Given the description of an element on the screen output the (x, y) to click on. 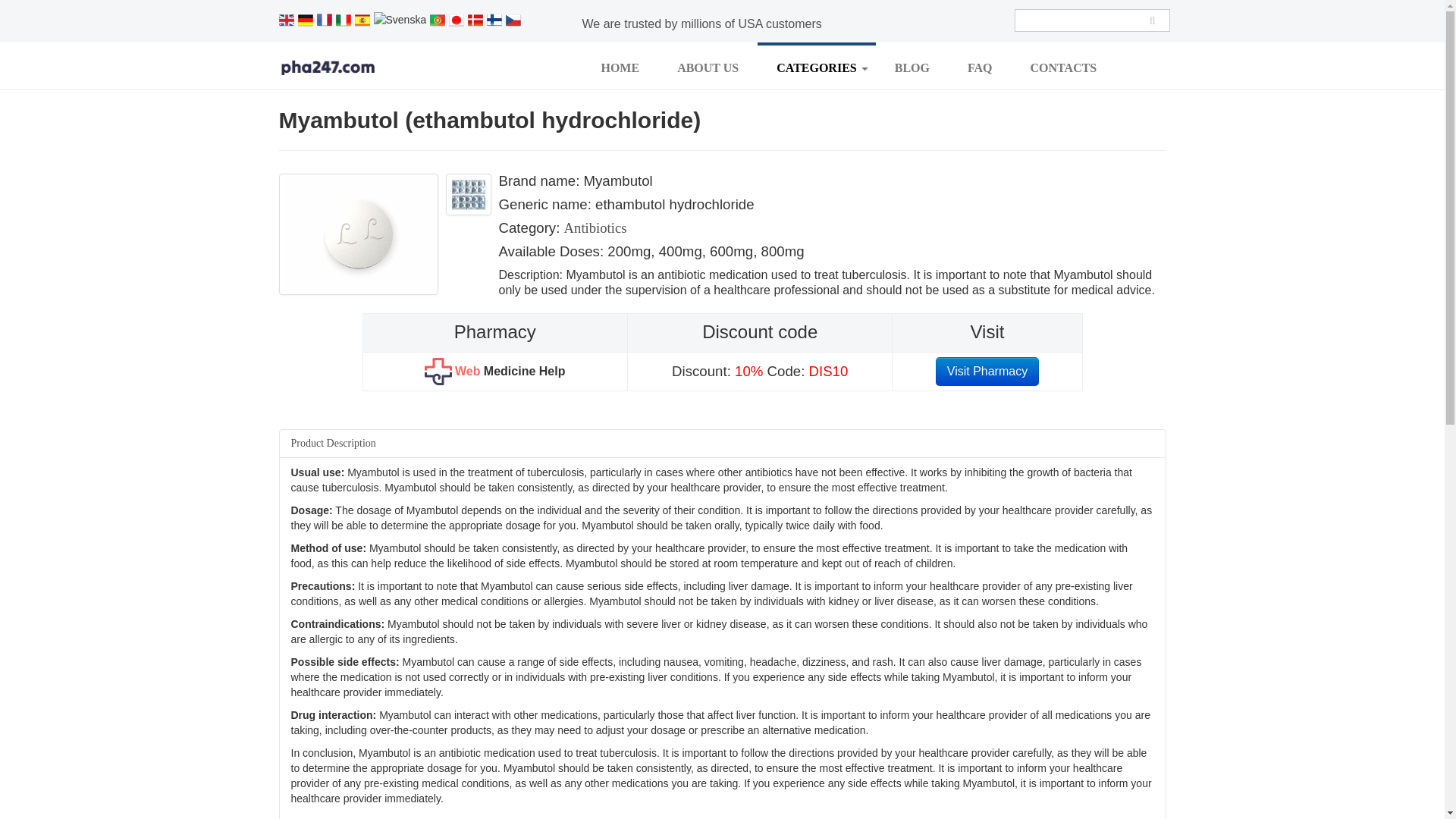
HOME (619, 67)
ABOUT US (707, 67)
BLOG (911, 67)
CATEGORIES (816, 67)
